Given the description of an element on the screen output the (x, y) to click on. 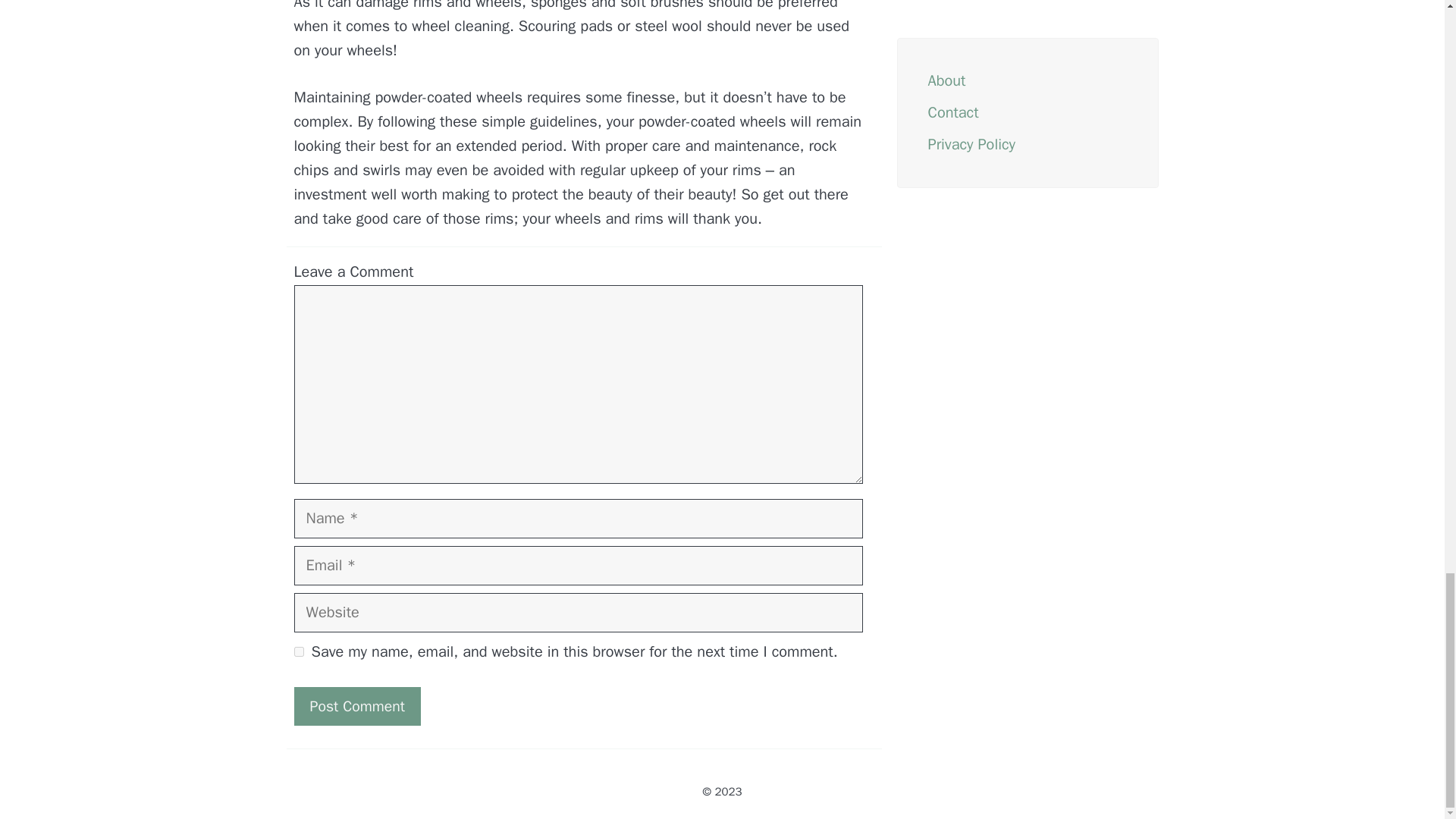
yes (299, 651)
Post Comment (357, 706)
Post Comment (357, 706)
